Given the description of an element on the screen output the (x, y) to click on. 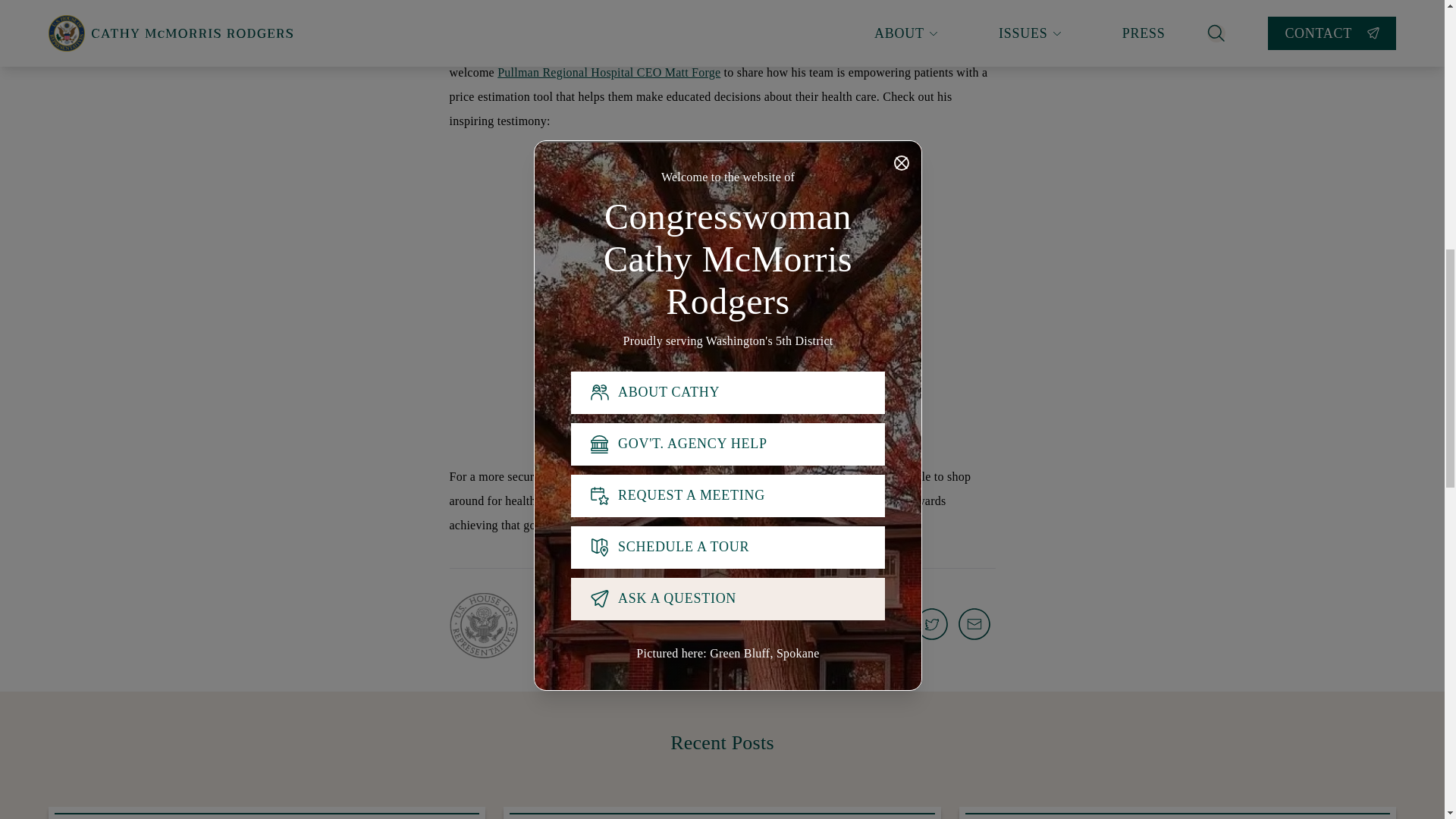
YouTube video player (721, 12)
Pullman Regional Hospital CEO Matt Forge (608, 72)
